Given the description of an element on the screen output the (x, y) to click on. 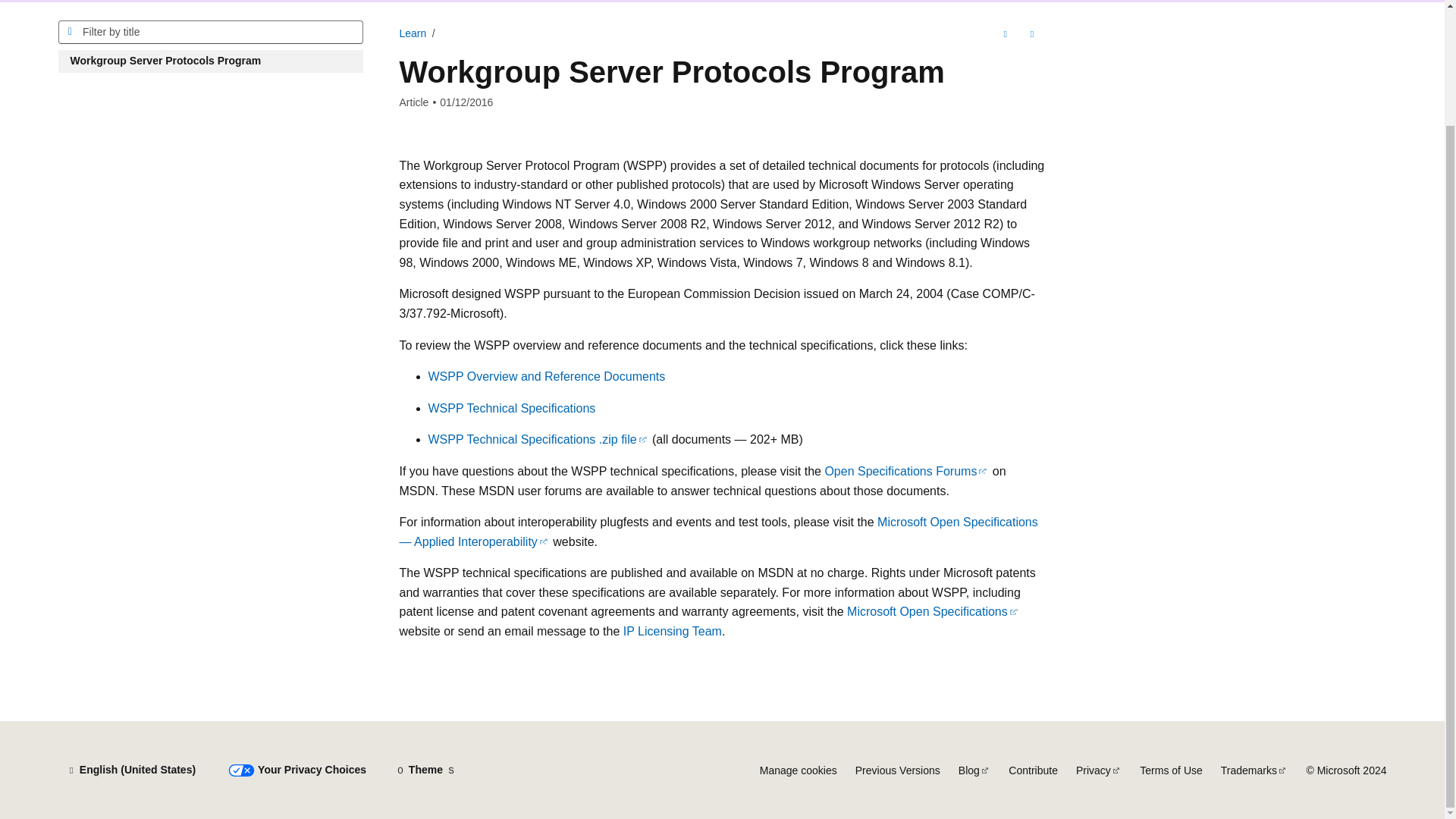
Workgroup Server Protocols Program (210, 60)
More actions (1031, 33)
Learn (412, 33)
Theme (425, 770)
